Given the description of an element on the screen output the (x, y) to click on. 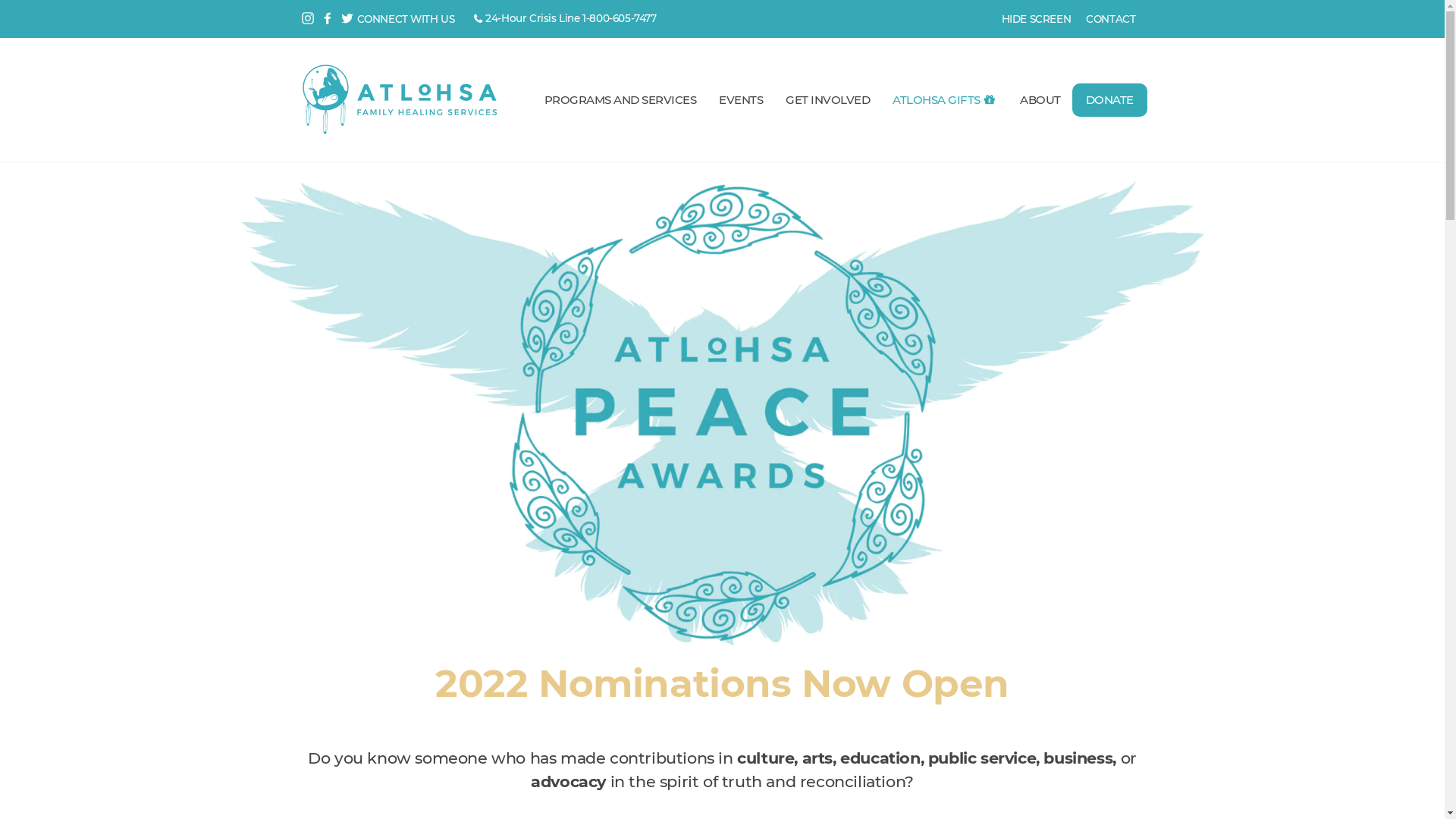
DONATE Element type: text (1109, 99)
CONTACT Element type: text (1110, 18)
ABOUT Element type: text (1040, 99)
Facebook Element type: text (326, 18)
ATLOHSA GIFTS Element type: text (944, 99)
HIDE SCREEN Element type: text (1036, 18)
GET INVOLVED Element type: text (827, 99)
Skip to content Element type: text (0, 0)
Twitter Element type: text (346, 18)
PROGRAMS AND SERVICES Element type: text (619, 99)
EVENTS Element type: text (740, 99)
Instagram Element type: text (306, 18)
